Given the description of an element on the screen output the (x, y) to click on. 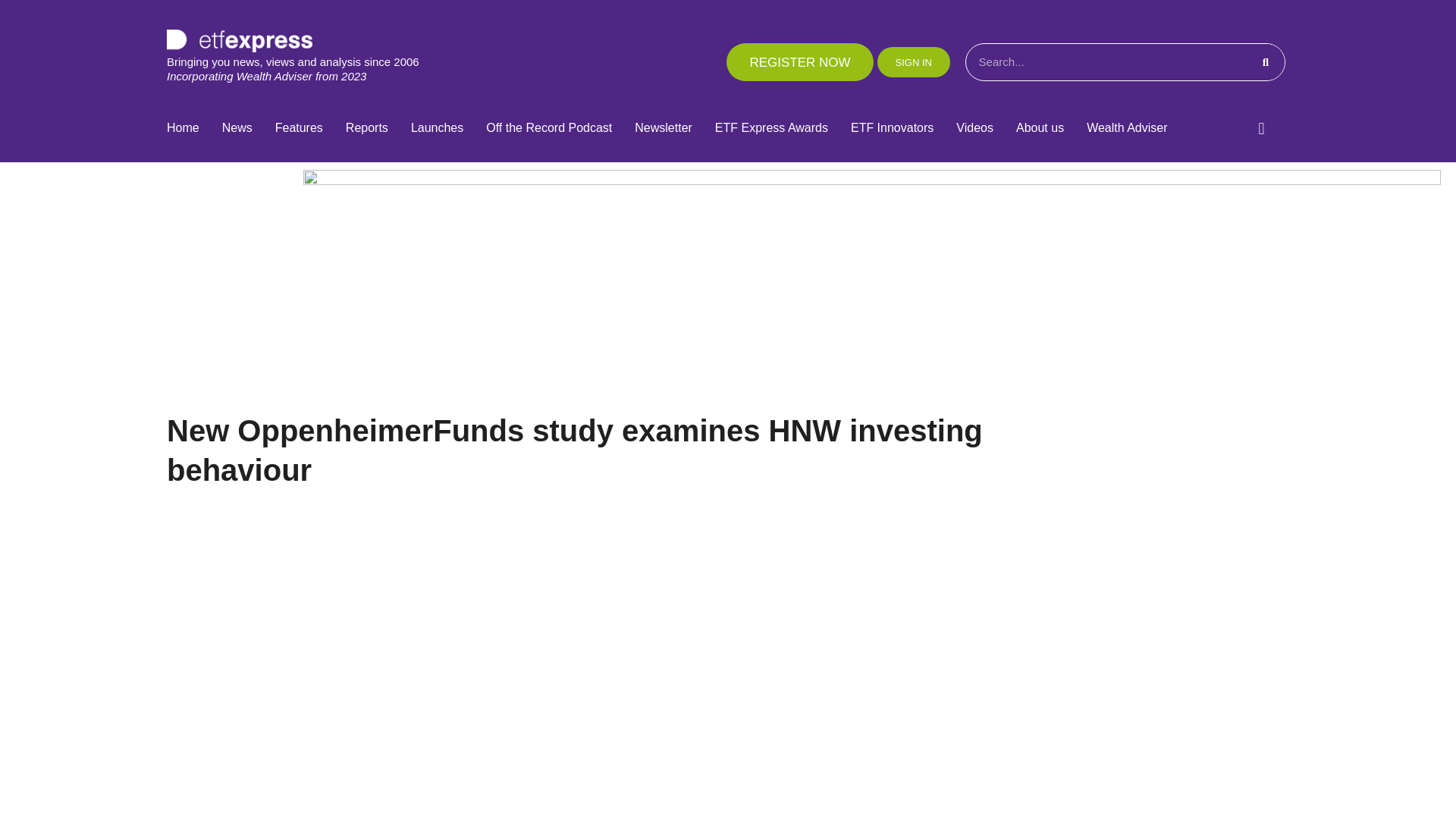
SIGN IN (913, 61)
REGISTER NOW (799, 62)
